Given the description of an element on the screen output the (x, y) to click on. 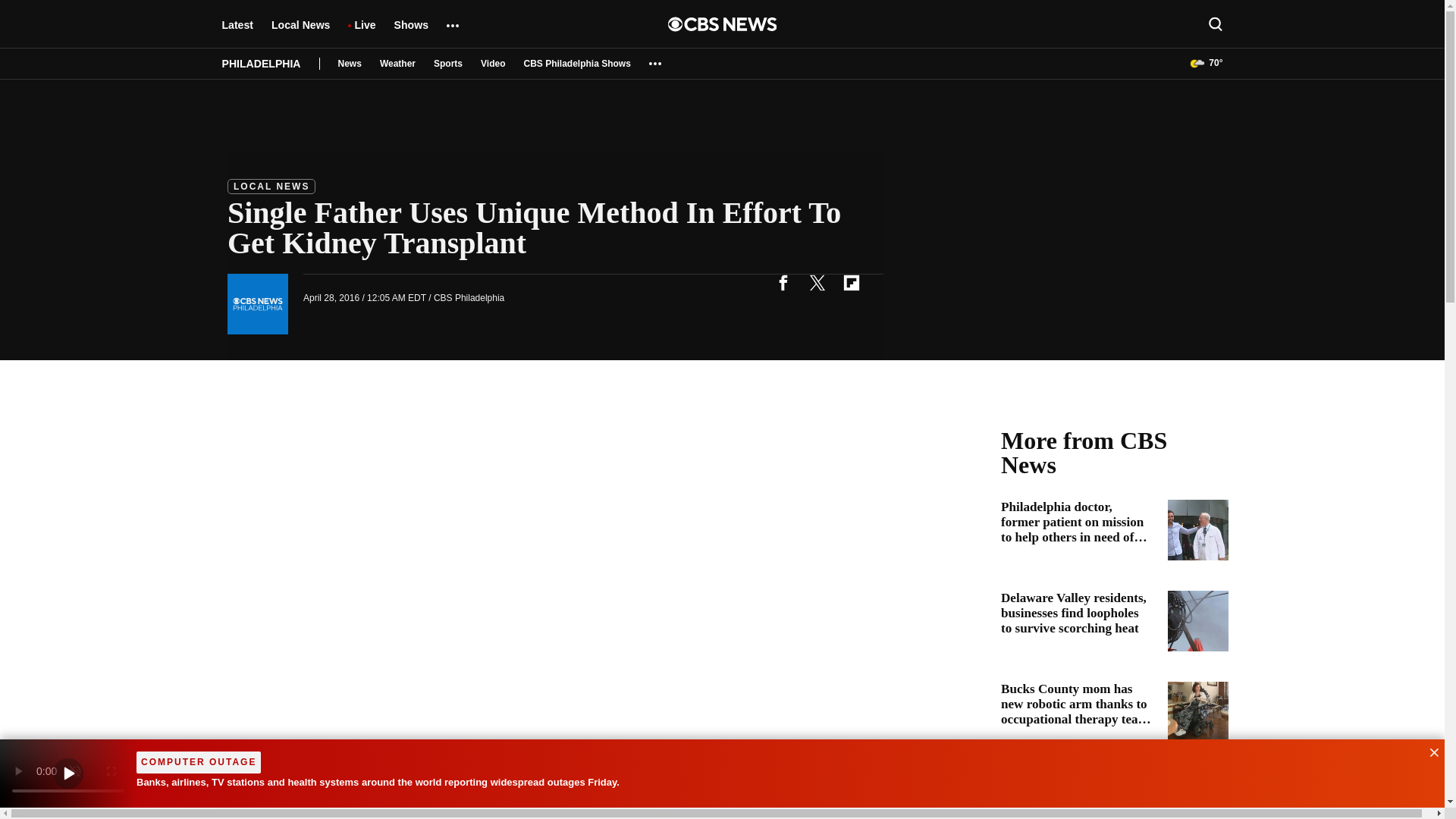
Latest (236, 31)
twitter (816, 282)
flipboard (850, 282)
Local News (300, 31)
Click to hide breaking news banner (1429, 750)
facebook (782, 282)
Watch CBS News (68, 773)
